Given the description of an element on the screen output the (x, y) to click on. 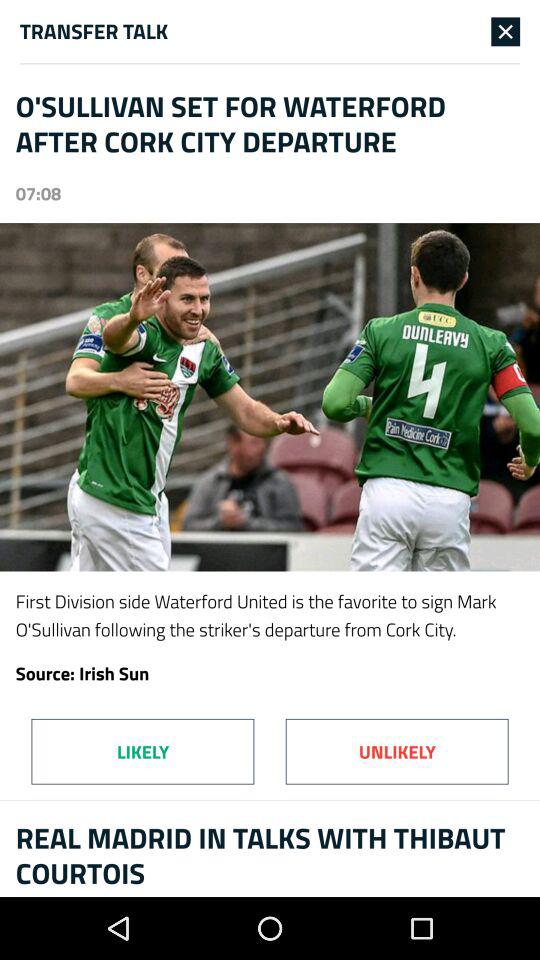
tap icon to the right of the transfer talk item (505, 31)
